Given the description of an element on the screen output the (x, y) to click on. 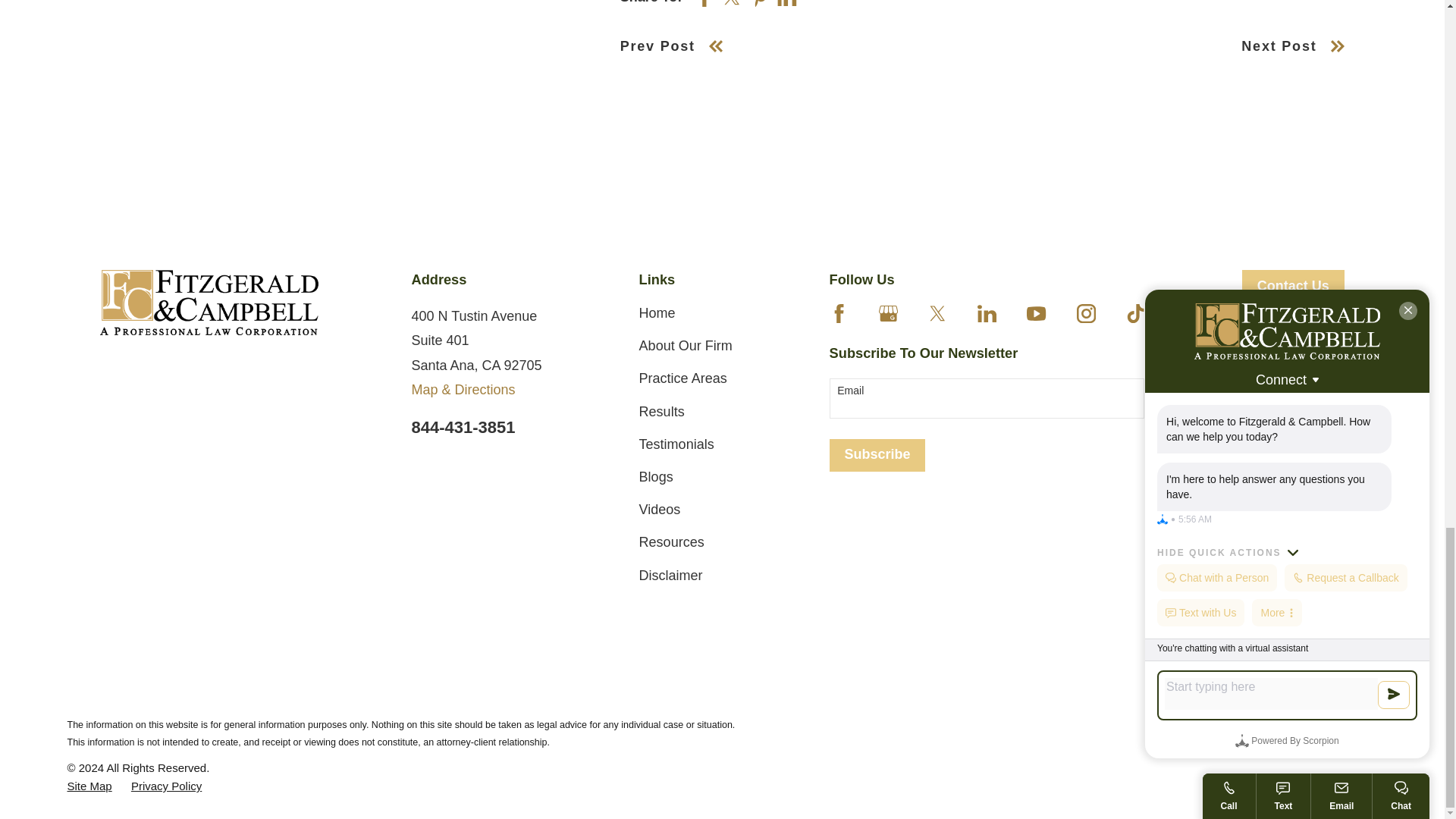
Home (209, 302)
